Given the description of an element on the screen output the (x, y) to click on. 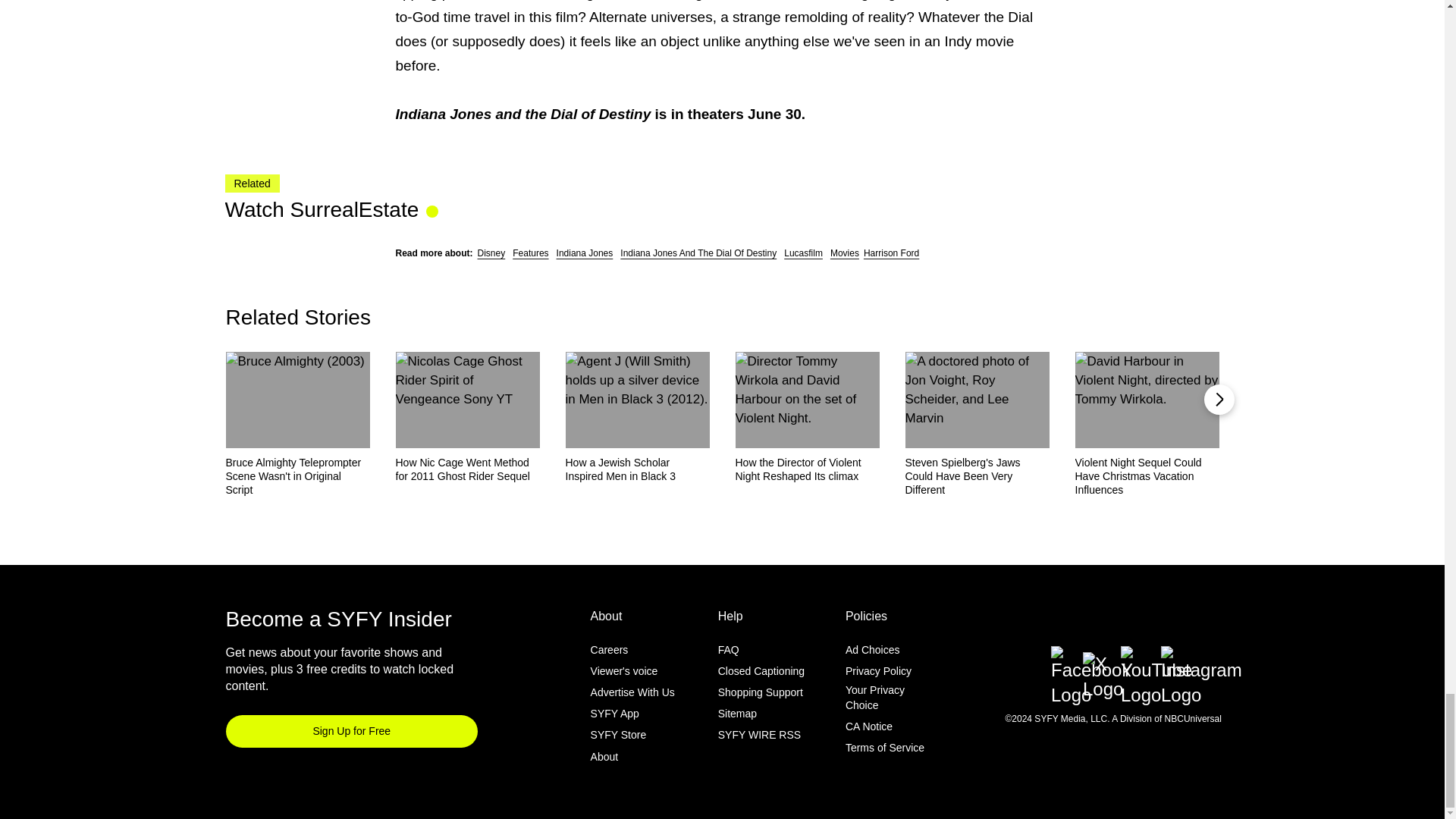
Indiana Jones (584, 253)
Harrison Ford (890, 253)
Advertise With Us (633, 692)
Indiana Jones And The Dial Of Destiny (698, 253)
Lucasfilm (803, 253)
Disney (491, 253)
Movies (844, 253)
Features (530, 253)
